Given the description of an element on the screen output the (x, y) to click on. 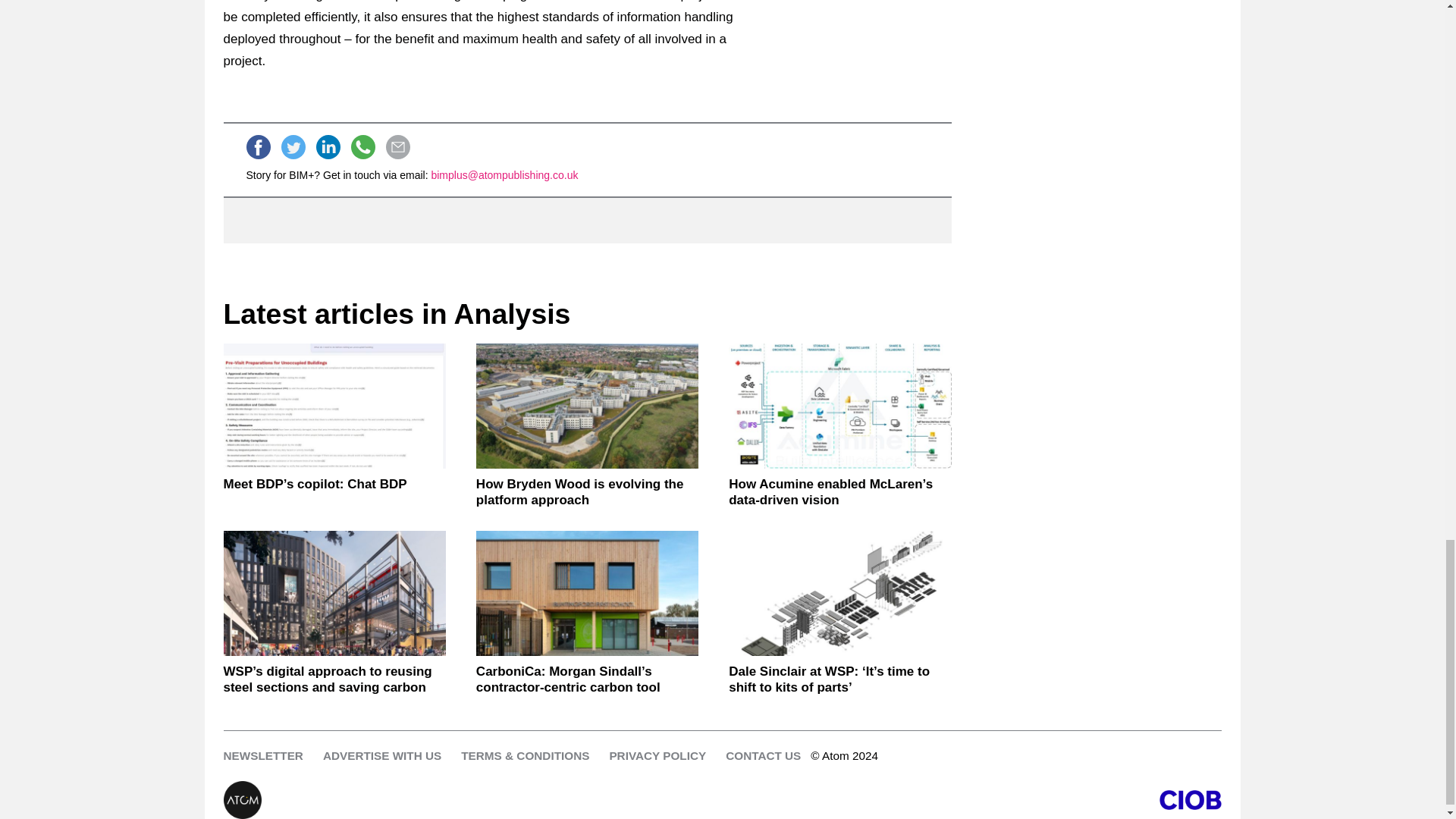
Tweet (292, 146)
Share on LinkedIn (327, 146)
Share on WhatsApp (362, 146)
How Bryden Wood is evolving the platform approach (587, 491)
Share on Facebook (257, 146)
Send email (397, 146)
How Bryden Wood is evolving the platform approach (587, 405)
